Given the description of an element on the screen output the (x, y) to click on. 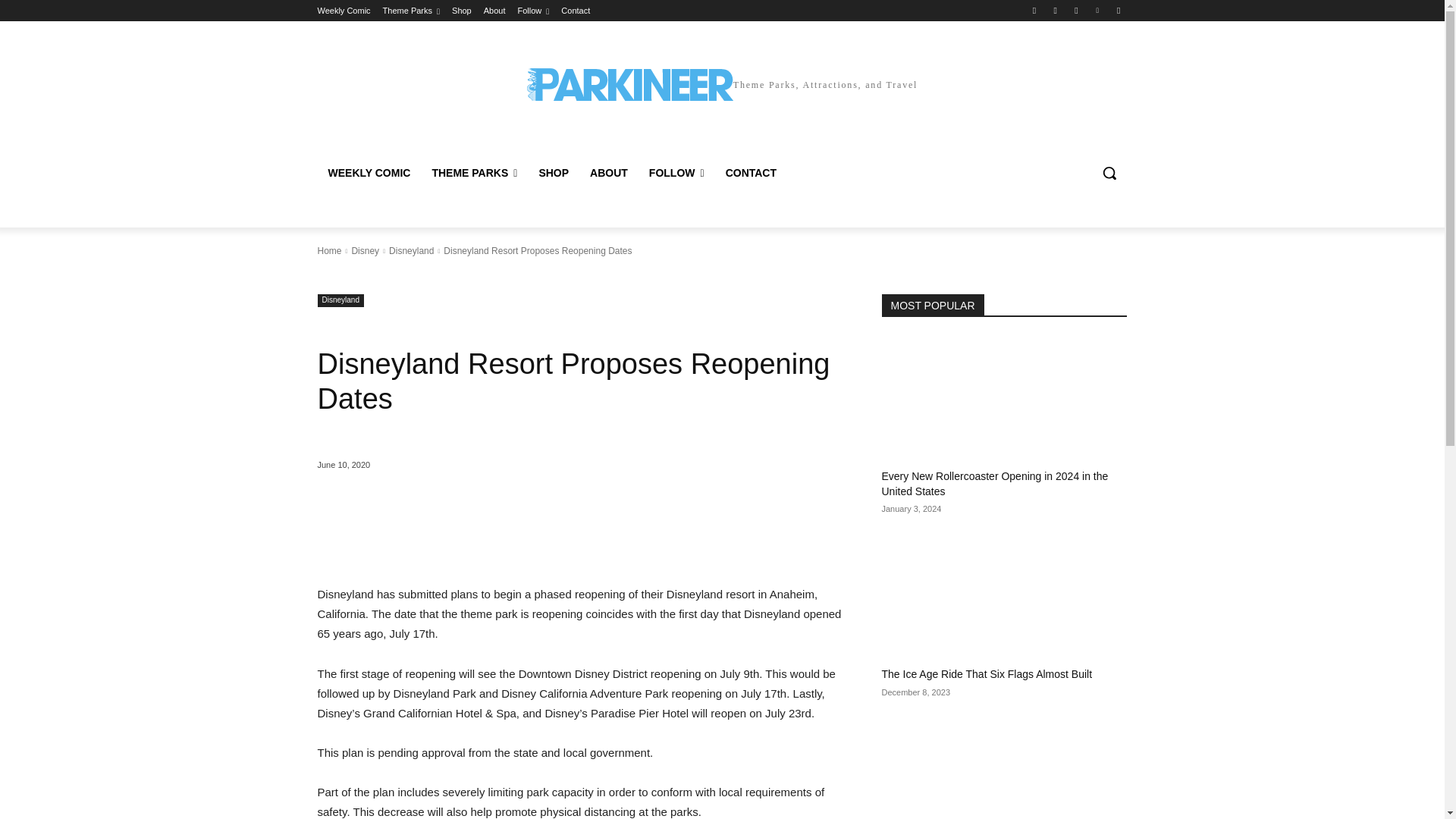
Facebook (1034, 9)
Vimeo (1097, 9)
Weekly Comic (343, 10)
Youtube (1117, 9)
Instagram (1055, 9)
Twitter (1075, 9)
Theme Parks (410, 10)
